Given the description of an element on the screen output the (x, y) to click on. 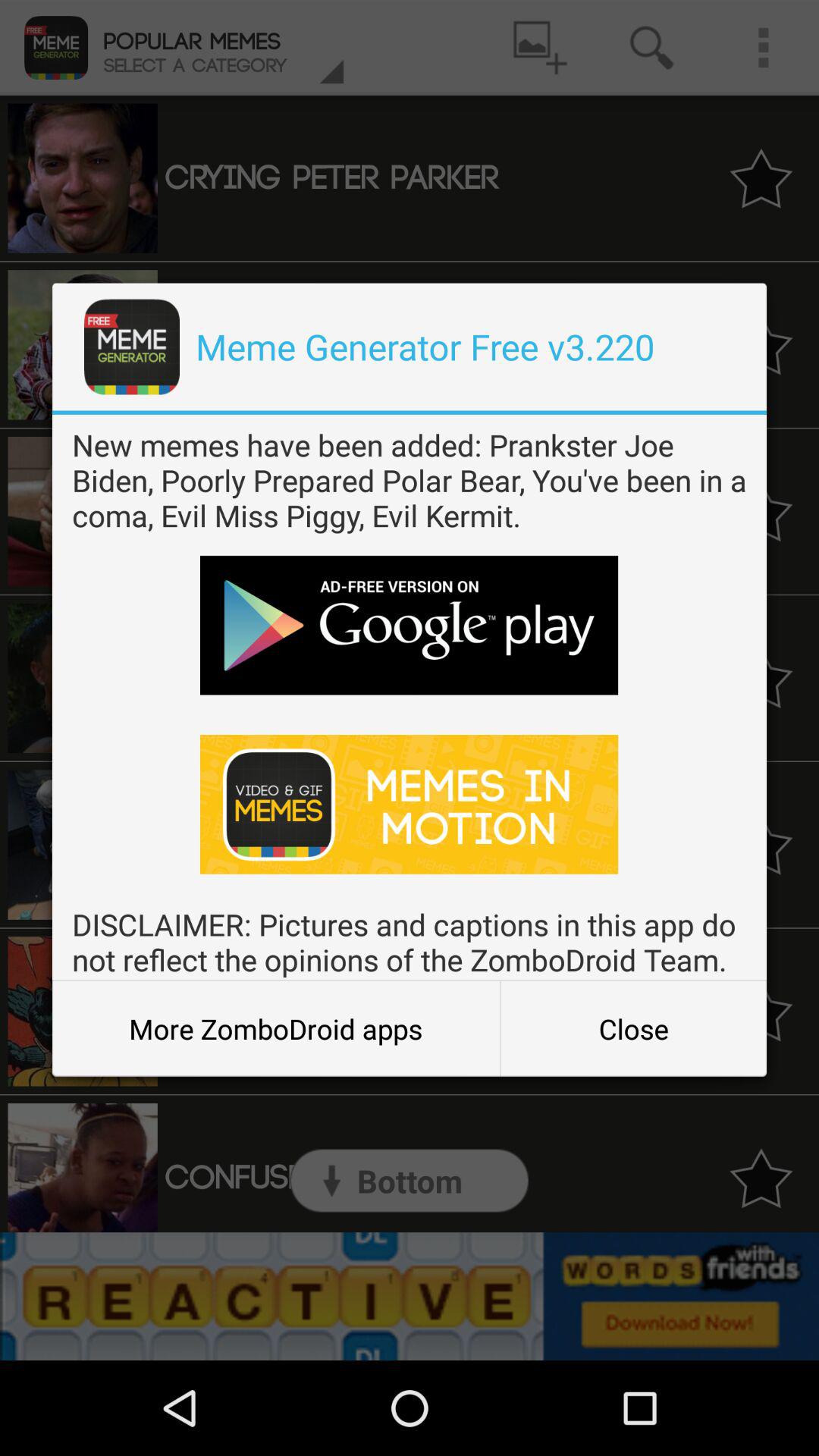
turn off item to the right of more zombodroid apps icon (633, 1028)
